Given the description of an element on the screen output the (x, y) to click on. 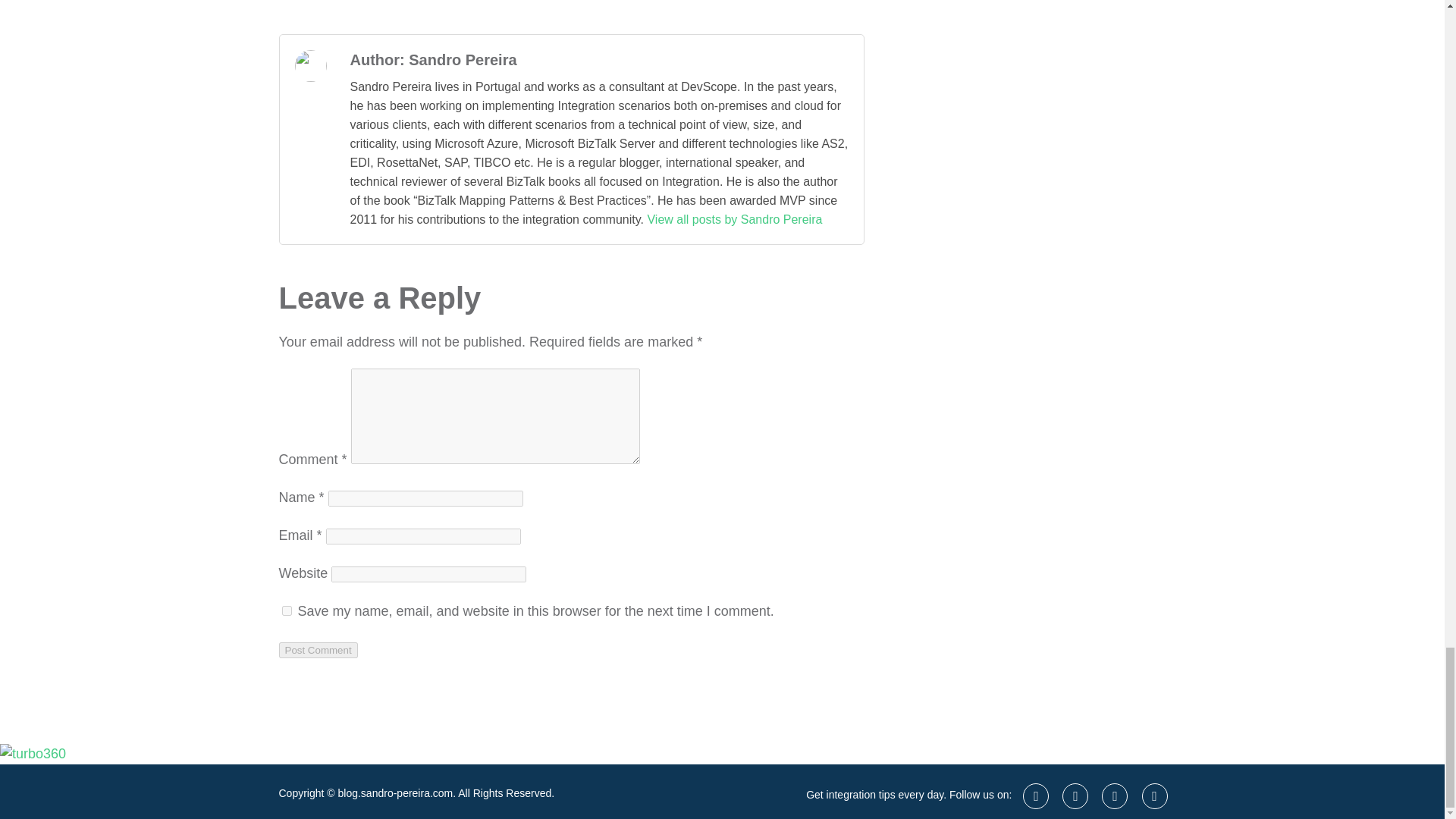
yes (287, 610)
Post Comment (318, 650)
View all posts by Sandro Pereira (734, 219)
Post Comment (318, 650)
